Given the description of an element on the screen output the (x, y) to click on. 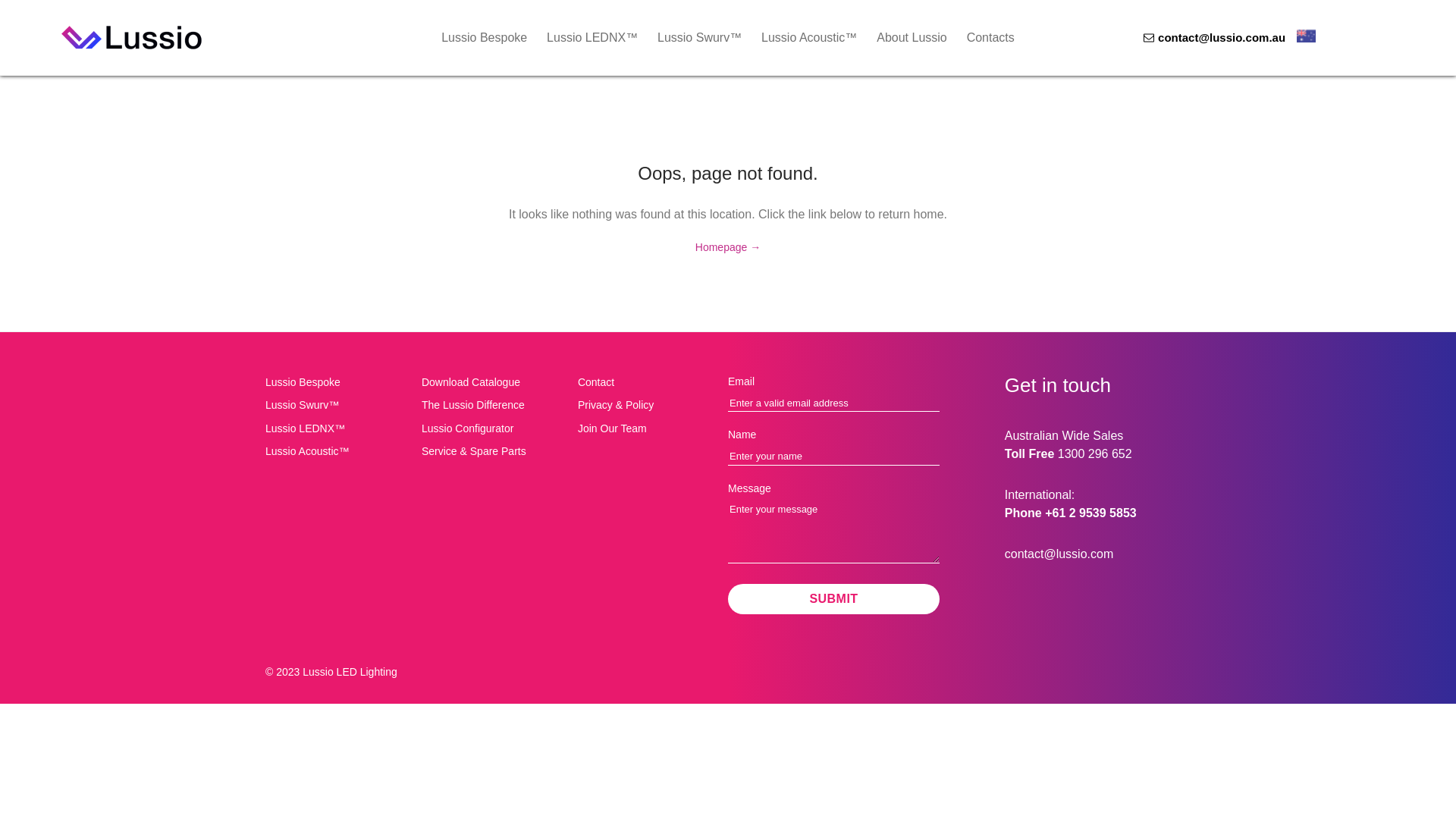
contact@lussio.com.au Element type: text (1208, 36)
1300 296 652 Element type: text (1094, 453)
Privacy & Policy Element type: text (649, 404)
Join Our Team Element type: text (649, 428)
Contact Element type: text (649, 381)
+61 2 9539 5853 Element type: text (1090, 512)
Download Catalogue Element type: text (493, 381)
About Lussio Element type: text (911, 37)
Service & Spare Parts Element type: text (493, 450)
Lussio Bespoke Element type: text (337, 381)
Submit Element type: text (833, 598)
Lussio Bespoke Element type: text (484, 37)
Lussio Configurator Element type: text (493, 428)
The Lussio Difference Element type: text (493, 404)
Contacts Element type: text (990, 37)
contact@lussio.com Element type: text (1058, 553)
